Given the description of an element on the screen output the (x, y) to click on. 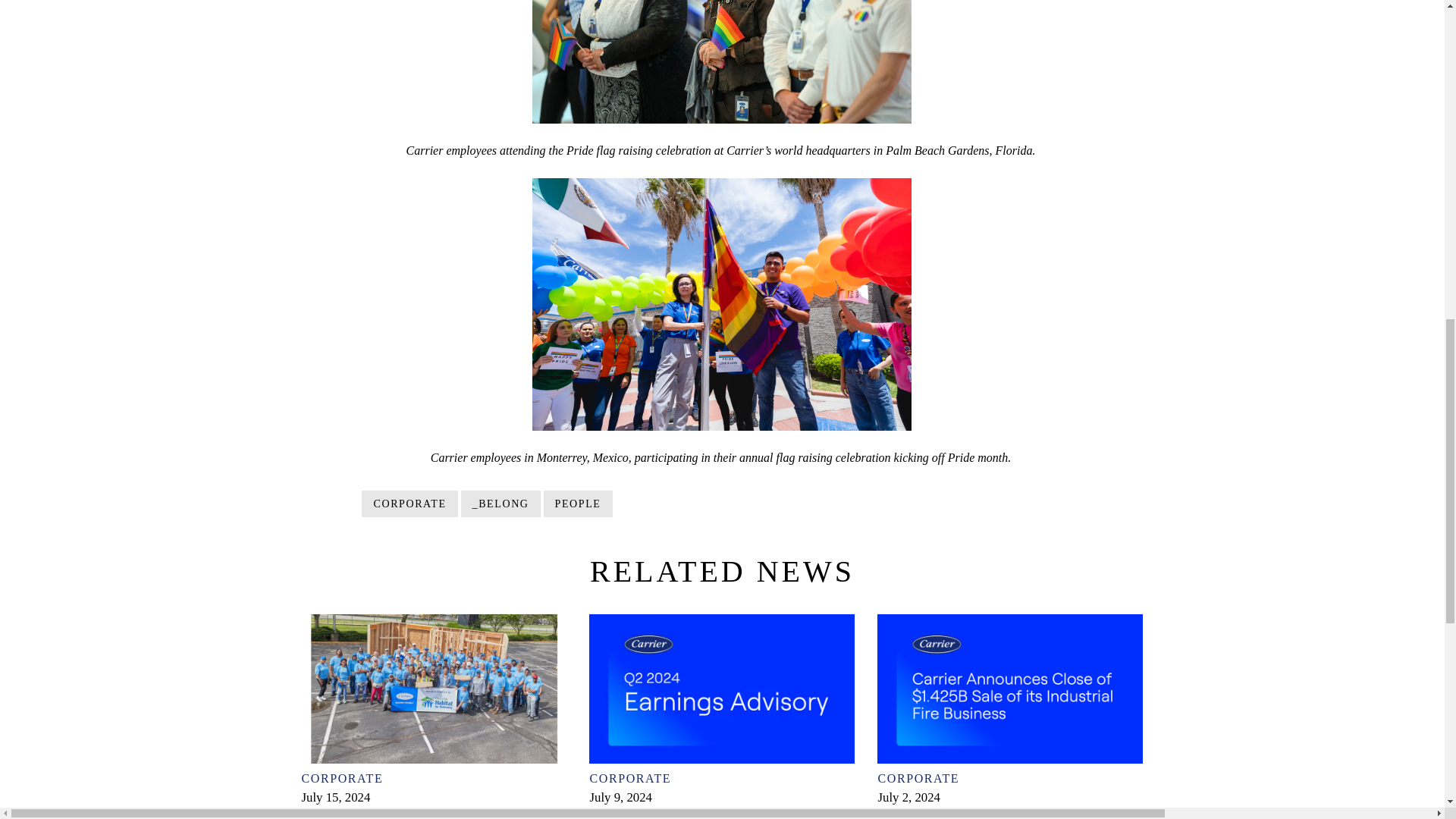
RIT (721, 304)
RIT (721, 61)
